Given the description of an element on the screen output the (x, y) to click on. 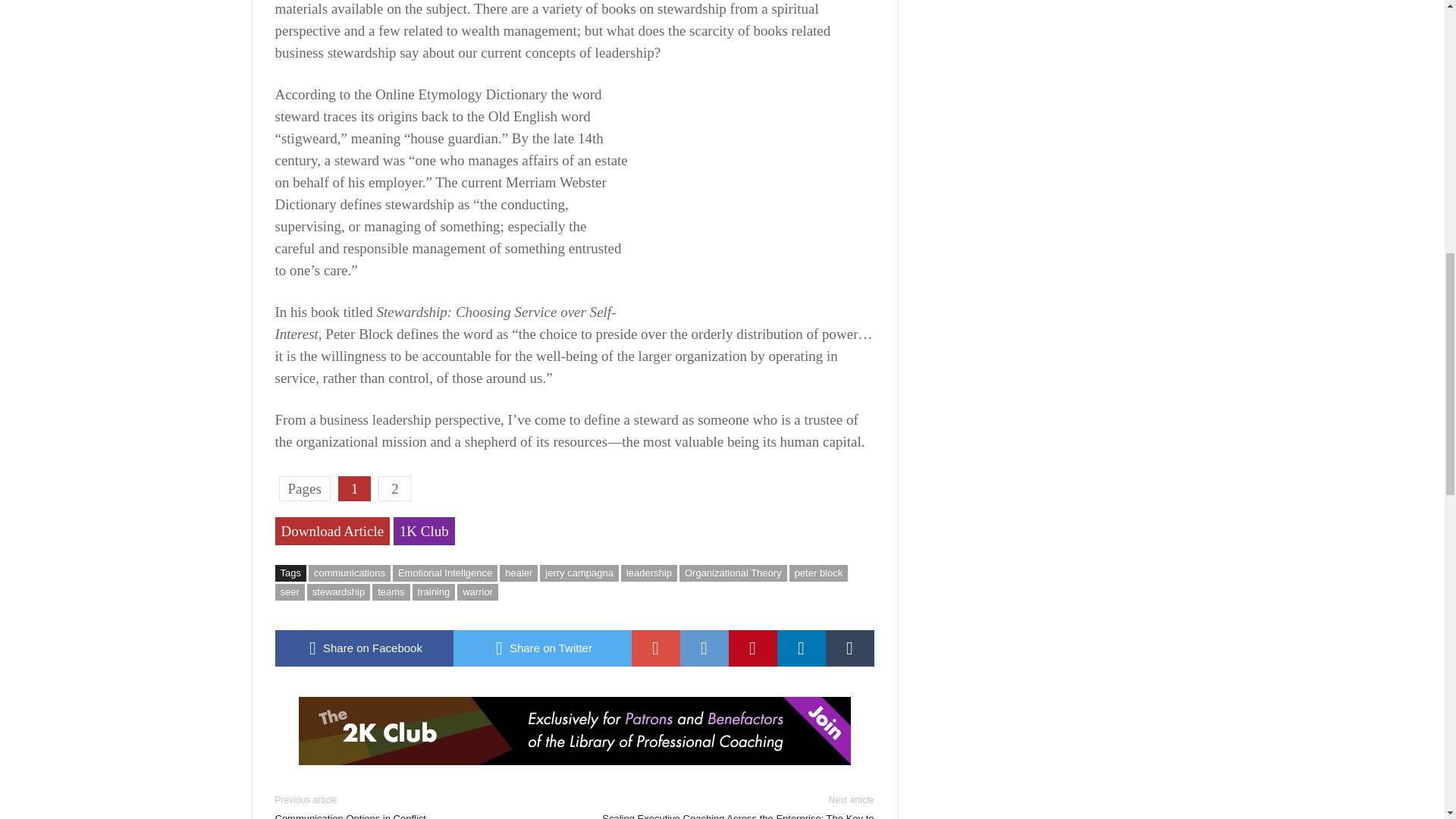
facebook (363, 647)
tumblr (849, 647)
pinterest (752, 647)
twitter (541, 647)
linkedin (800, 647)
reddit (703, 647)
google (654, 647)
